Given the description of an element on the screen output the (x, y) to click on. 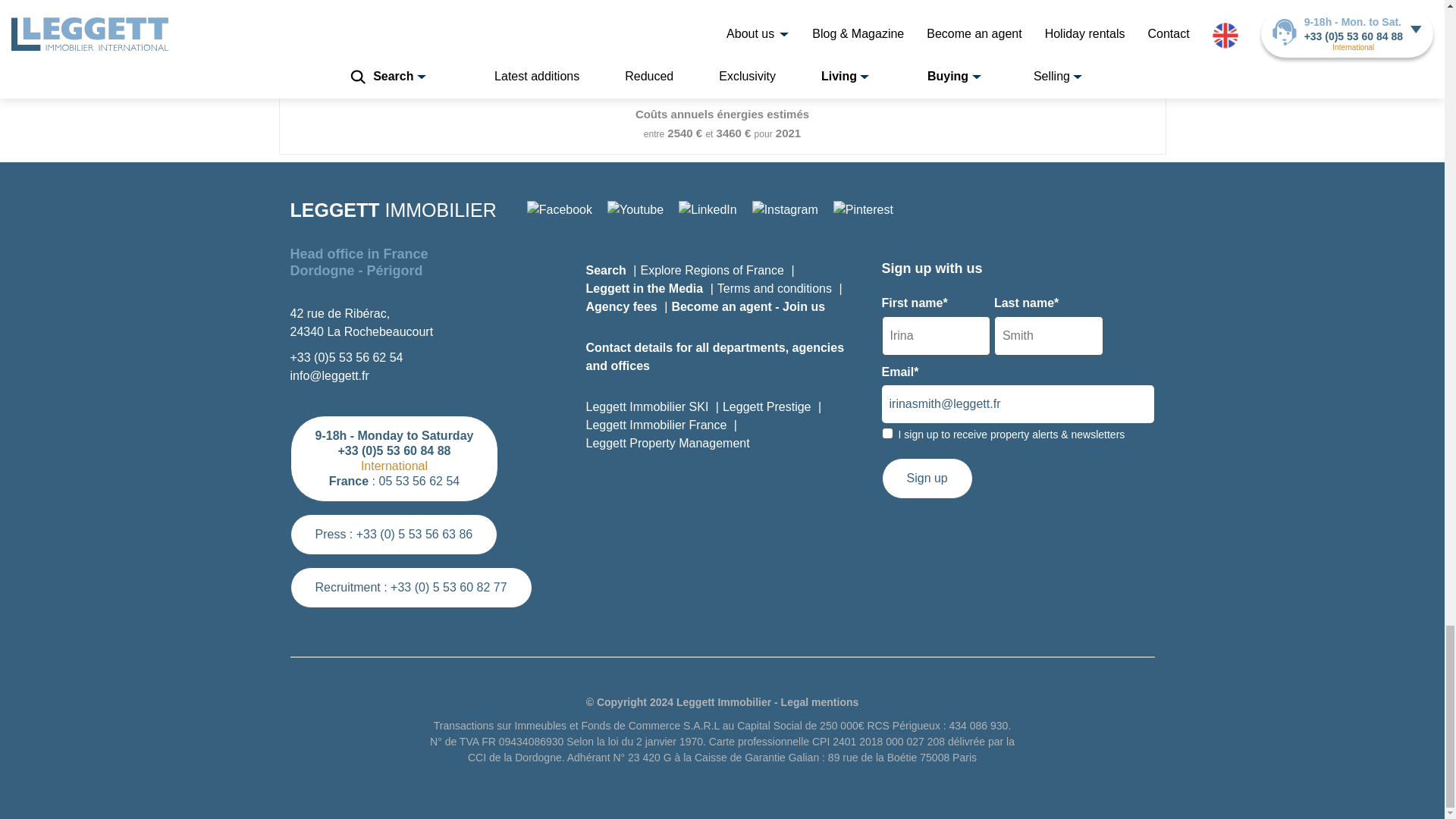
on (886, 432)
